Given the description of an element on the screen output the (x, y) to click on. 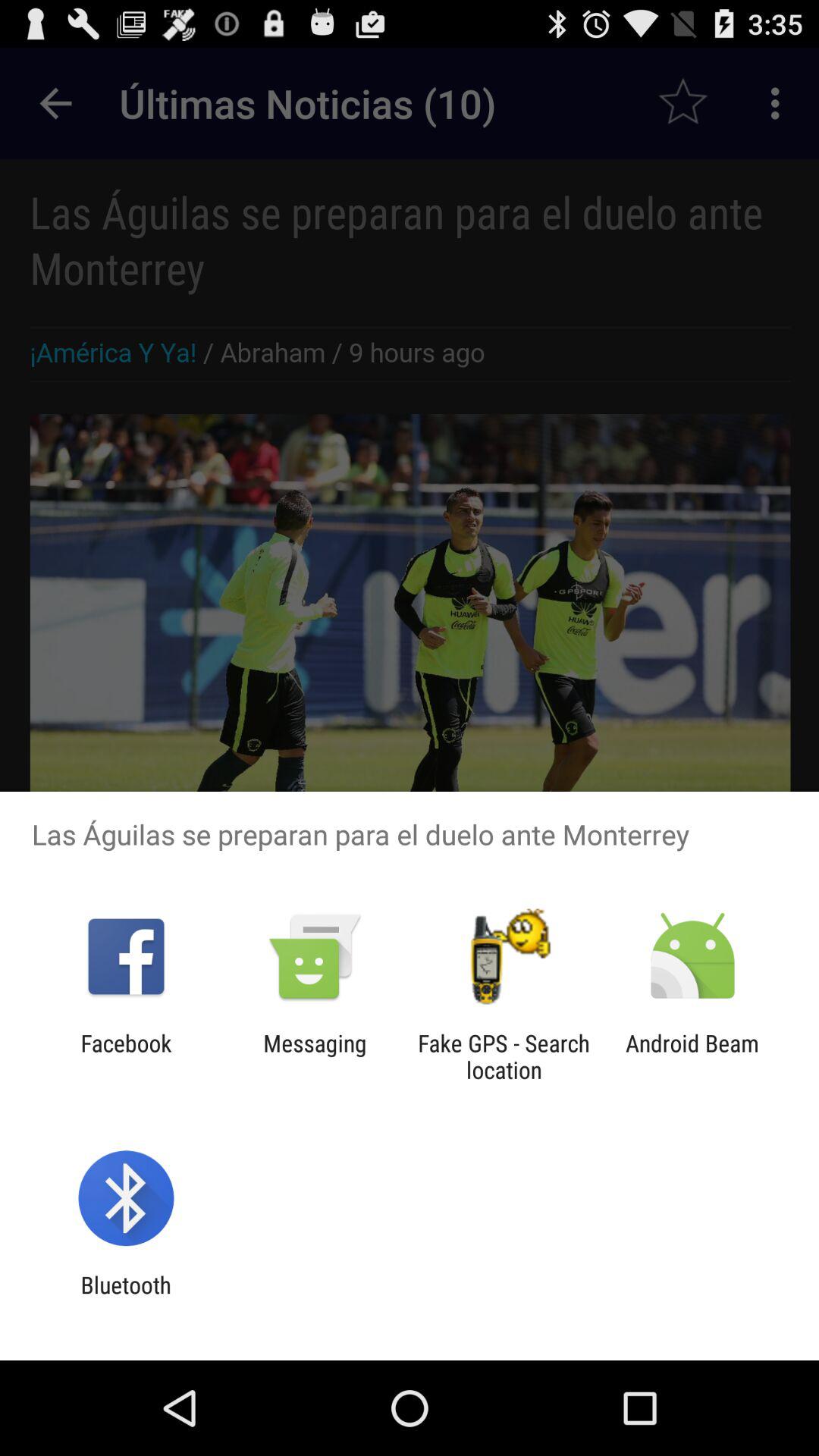
select the icon to the right of fake gps search app (692, 1056)
